Given the description of an element on the screen output the (x, y) to click on. 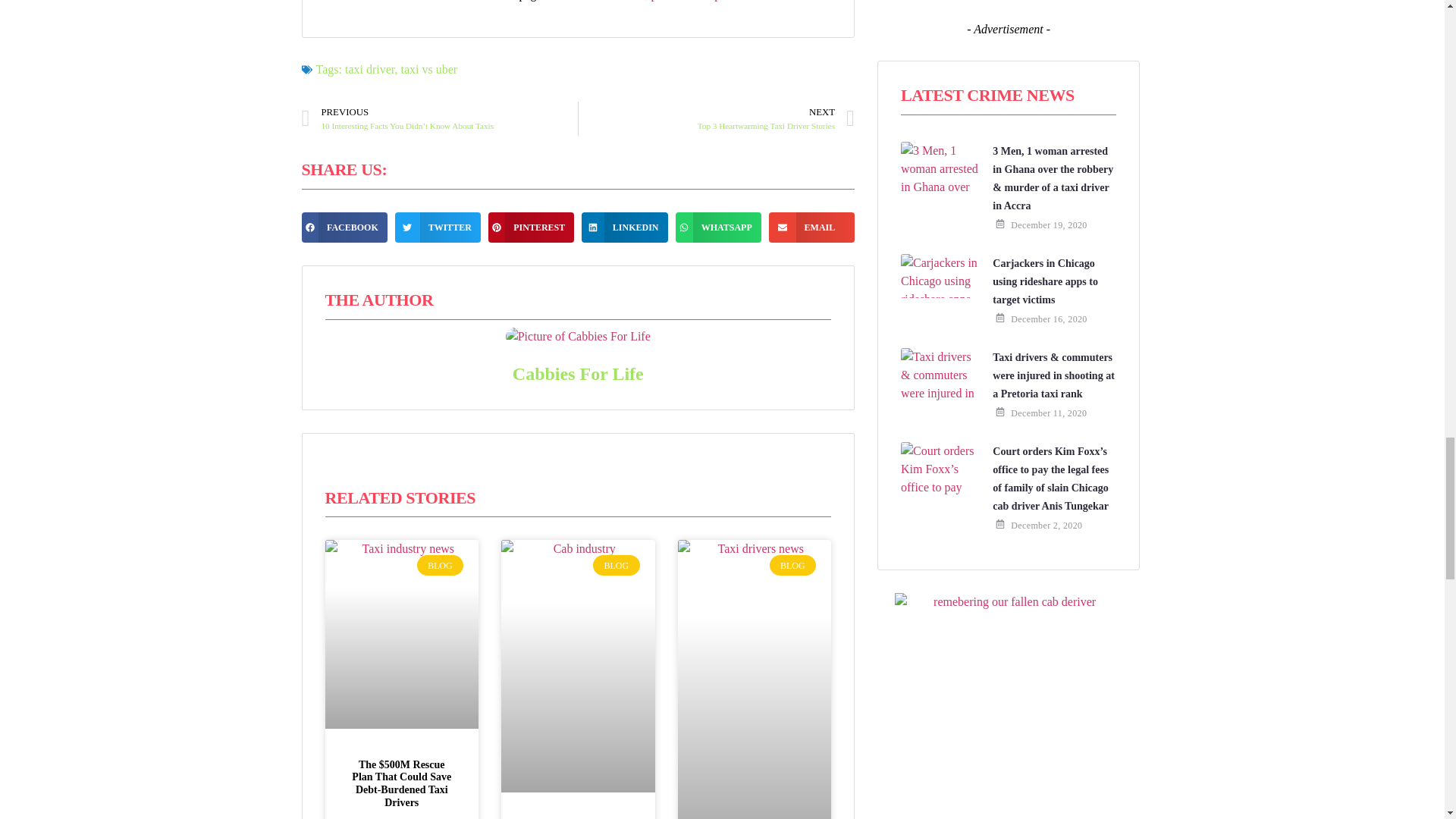
2020-12-19T06:37:52-06:00 (1048, 225)
2020-12-02T01:33:00-06:00 (1045, 525)
2020-12-16T20:35:10-06:00 (1048, 318)
2020-12-11T21:33:33-06:00 (1048, 412)
